Given the description of an element on the screen output the (x, y) to click on. 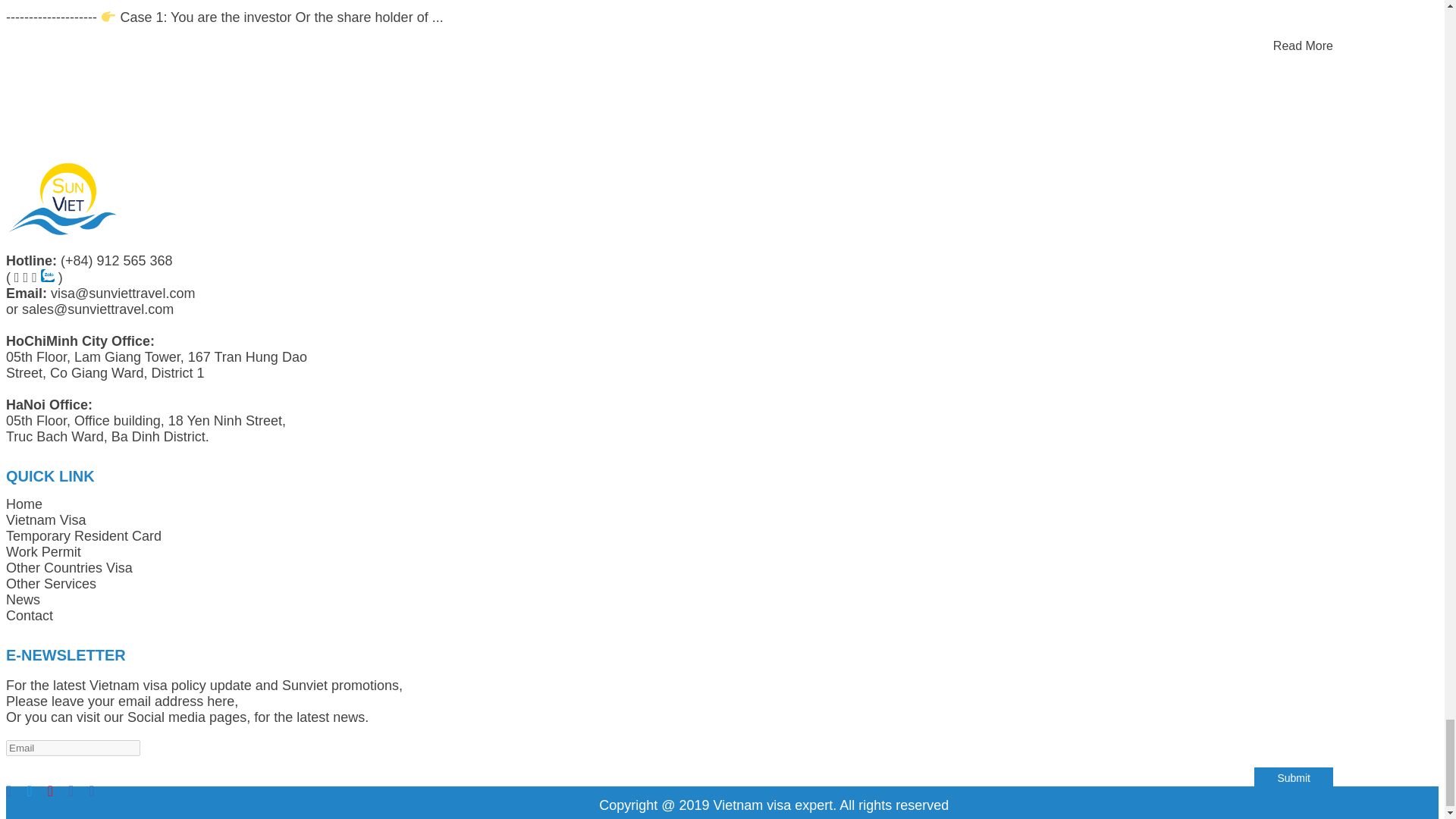
Vietnam Visa (45, 519)
News (22, 599)
Other Services (50, 583)
Other Countries Visa (68, 567)
Work Permit (43, 551)
Temporary Resident Card (83, 535)
Home (23, 503)
Read More (1302, 45)
Contact (28, 615)
